Given the description of an element on the screen output the (x, y) to click on. 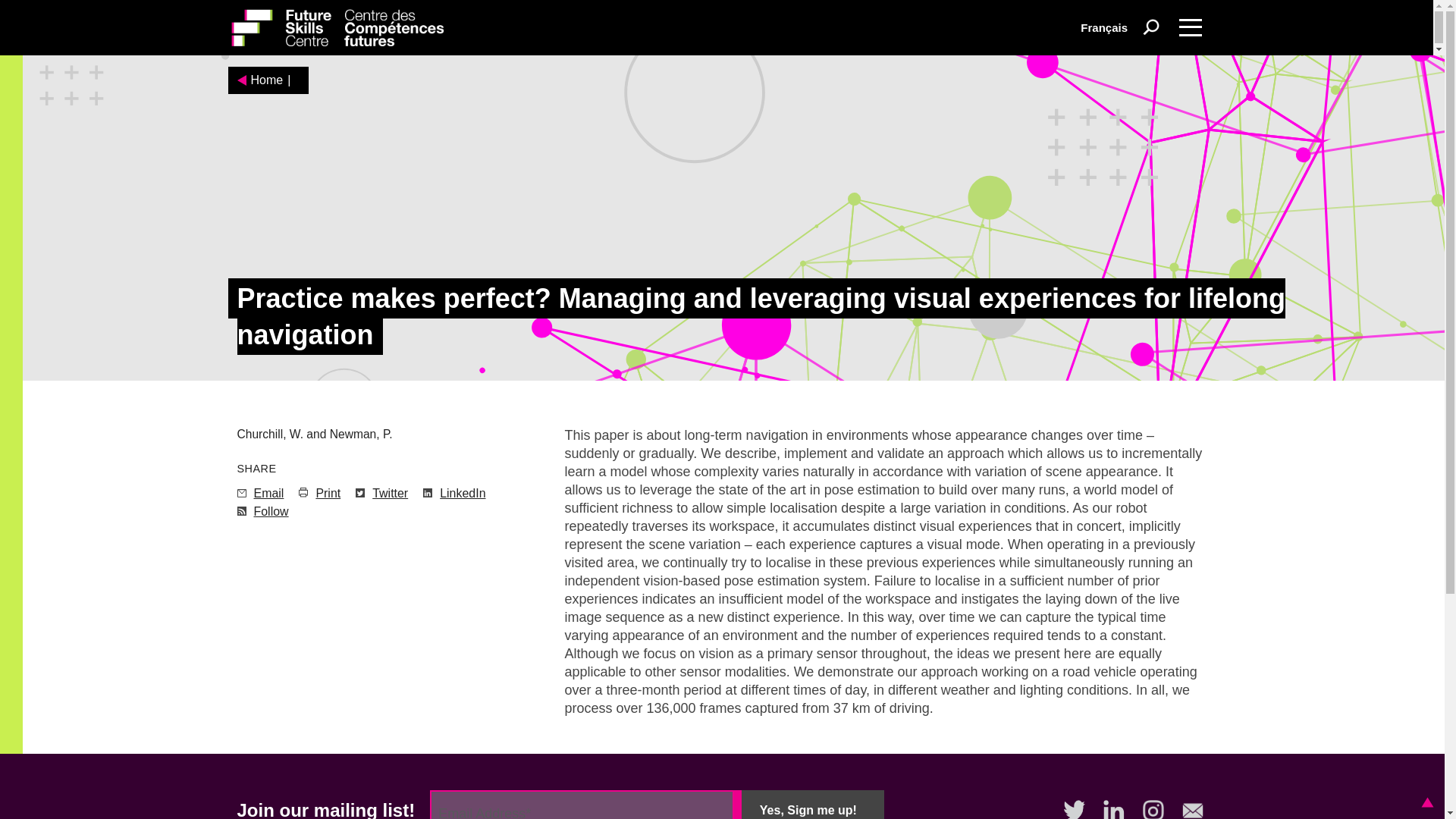
Search Created with Sketch. (1150, 25)
Search Created with Sketch. (1150, 27)
